Given the description of an element on the screen output the (x, y) to click on. 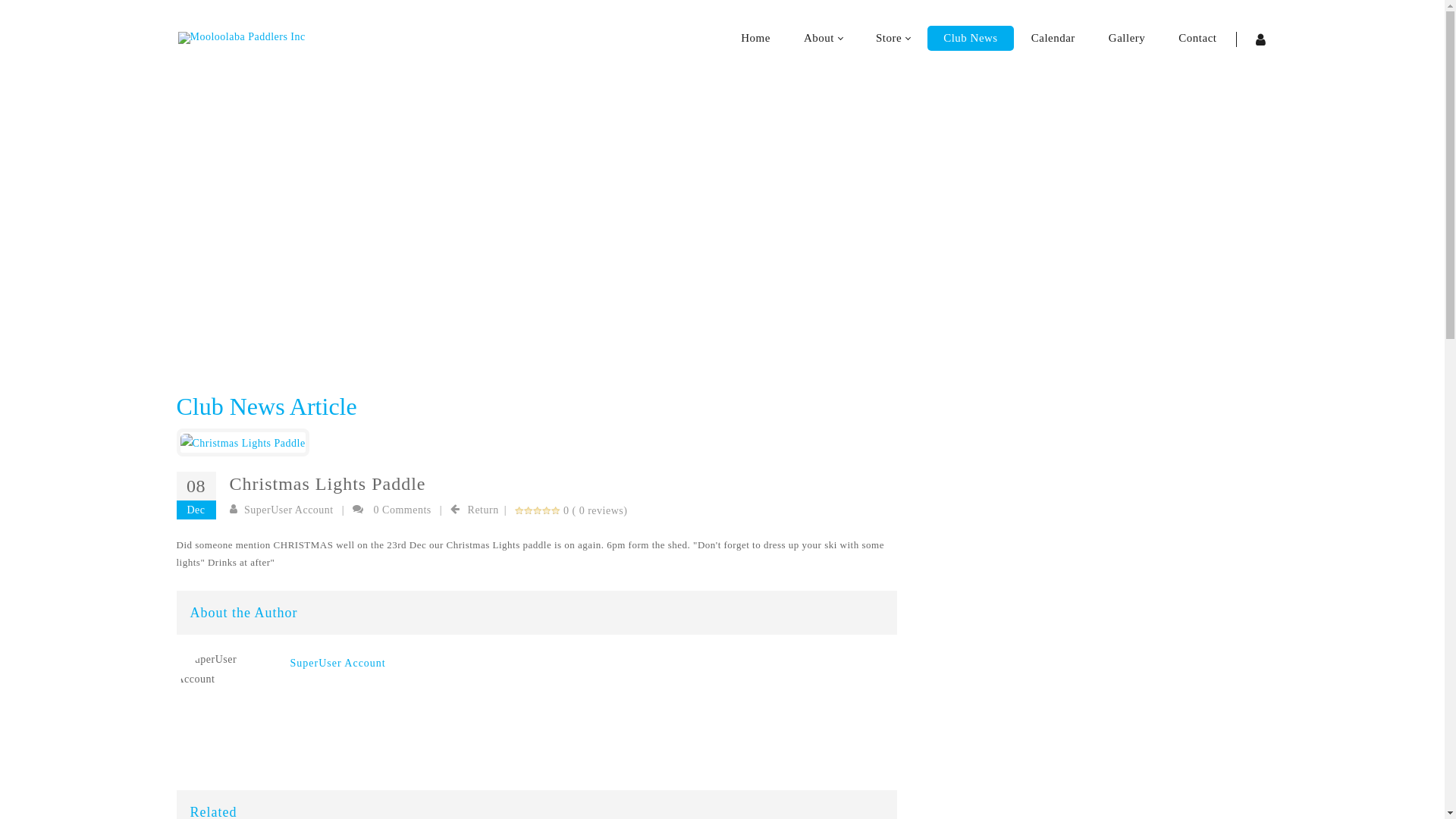
Calendar Element type: text (1053, 37)
About Element type: text (822, 37)
SuperUser Account Element type: hover (225, 668)
Club News Details Element type: text (781, 229)
Christmas Lights Paddle Element type: hover (242, 442)
Mooloolaba Paddlers Inc Element type: hover (240, 37)
Home Element type: text (655, 229)
Contact Element type: text (1197, 37)
Club News Element type: text (970, 37)
Store Element type: text (892, 37)
SuperUser Account Element type: text (337, 662)
Club News Element type: text (704, 229)
Home Element type: text (755, 37)
Gallery Element type: text (1126, 37)
Return Element type: text (482, 509)
SuperUser Account Element type: text (288, 509)
Christmas Lights Paddle Element type: hover (242, 441)
0 Comments Element type: text (402, 509)
